Given the description of an element on the screen output the (x, y) to click on. 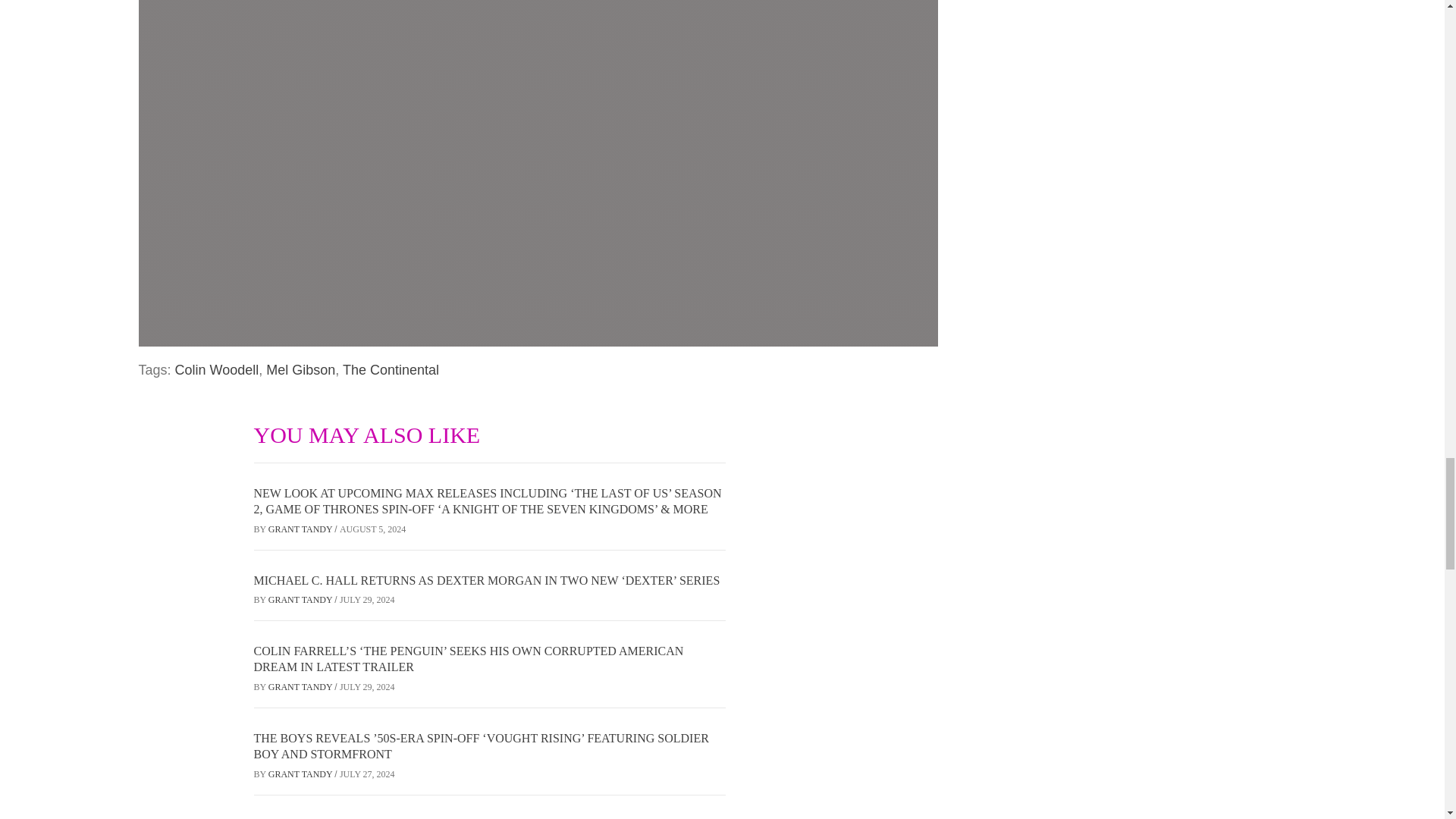
The Continental (390, 369)
GRANT TANDY (300, 686)
GRANT TANDY (300, 529)
Mel Gibson (300, 369)
GRANT TANDY (300, 774)
Colin Woodell (216, 369)
GRANT TANDY (300, 599)
